Given the description of an element on the screen output the (x, y) to click on. 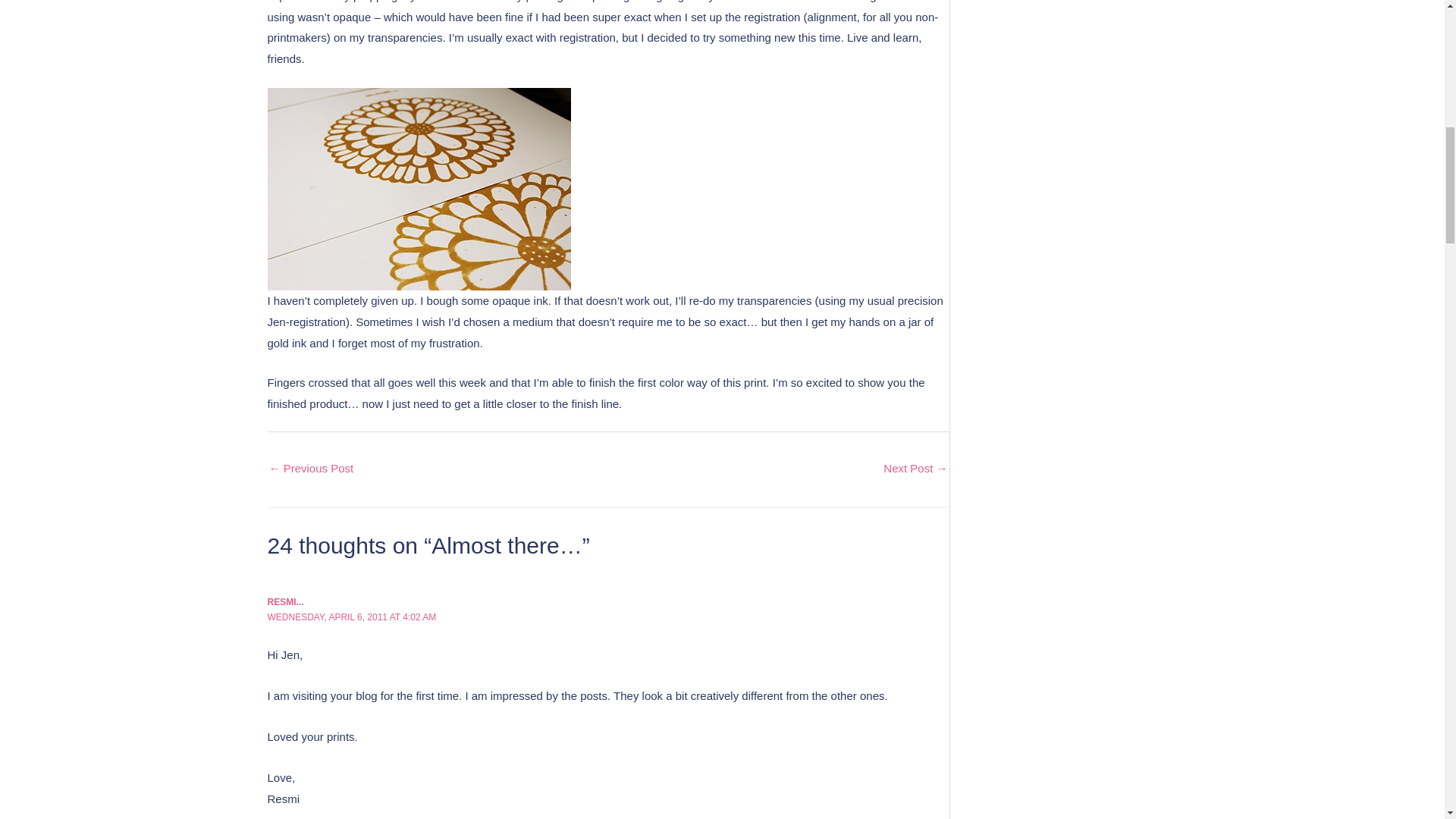
When you don't have a light table... (310, 469)
RESMI... (284, 602)
WEDNESDAY, APRIL 6, 2011 AT 4:02 AM (350, 616)
